Given the description of an element on the screen output the (x, y) to click on. 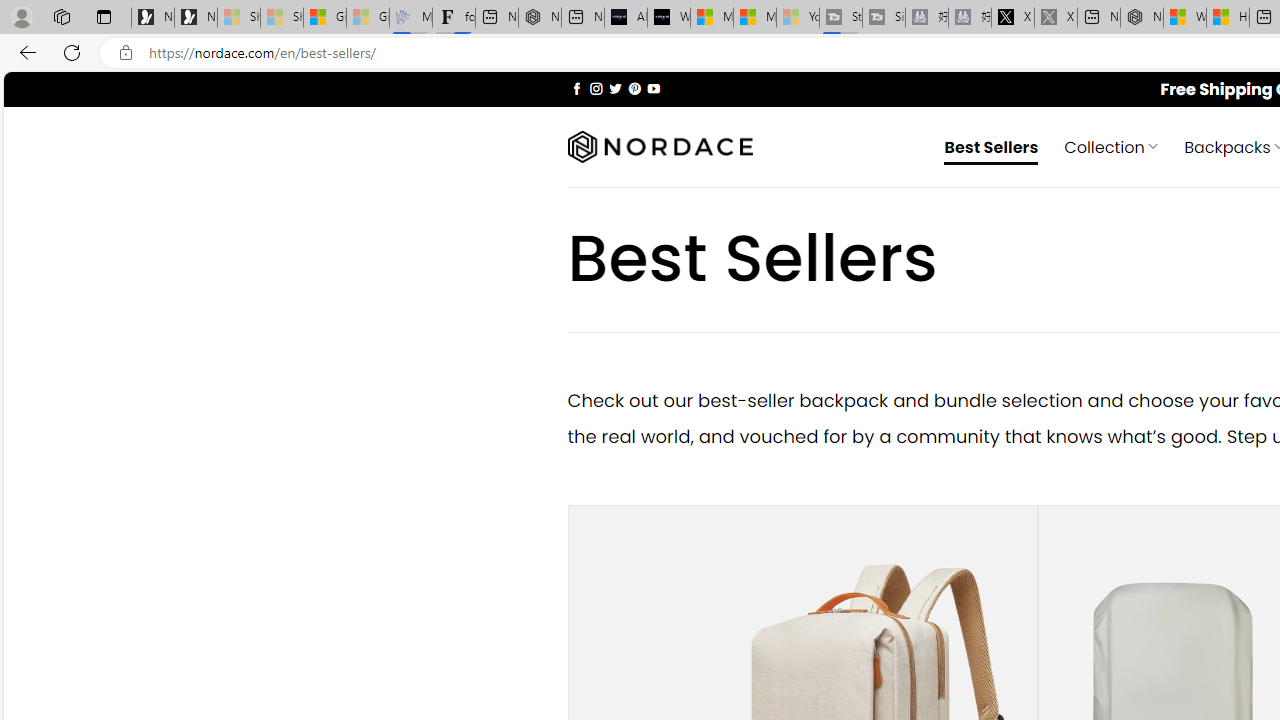
Nordace - #1 Japanese Best-Seller - Siena Smart Backpack (539, 17)
Wildlife - MSN (1184, 17)
Follow on Facebook (576, 88)
Follow on YouTube (653, 88)
Nordace - My Account (1142, 17)
